Given the description of an element on the screen output the (x, y) to click on. 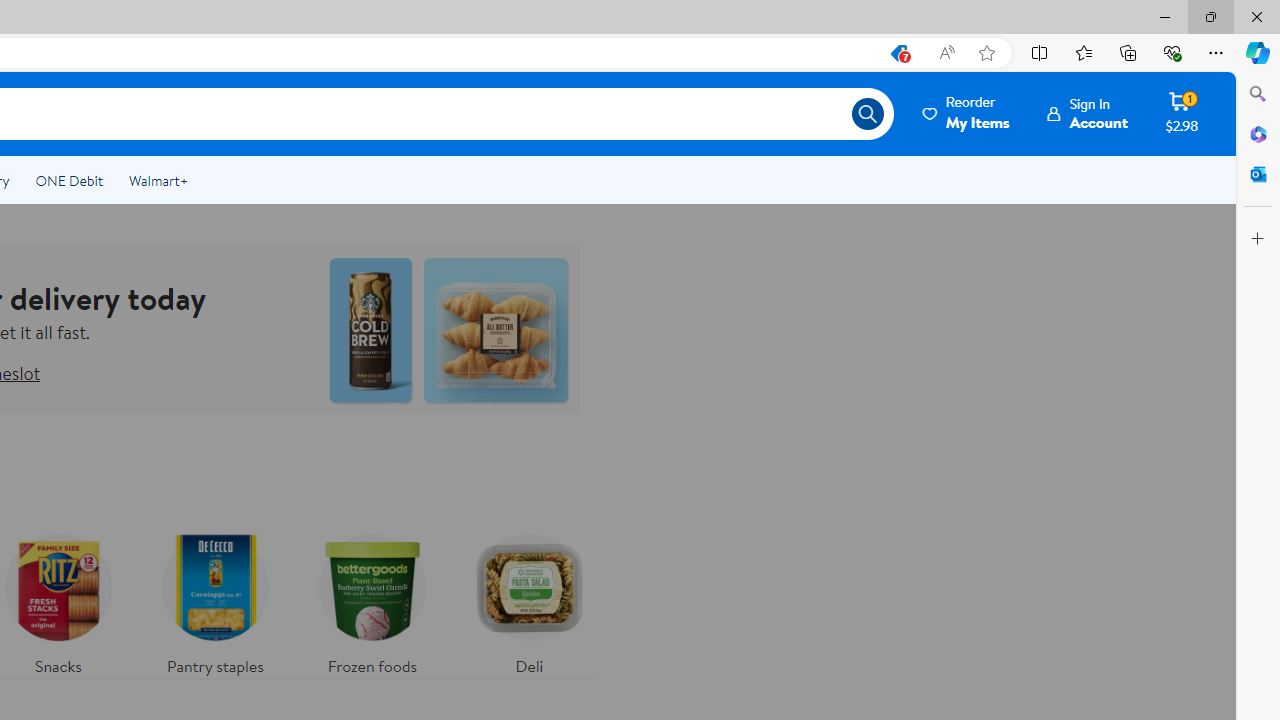
Reorder My Items (967, 113)
Pantry staples (214, 599)
